Given the description of an element on the screen output the (x, y) to click on. 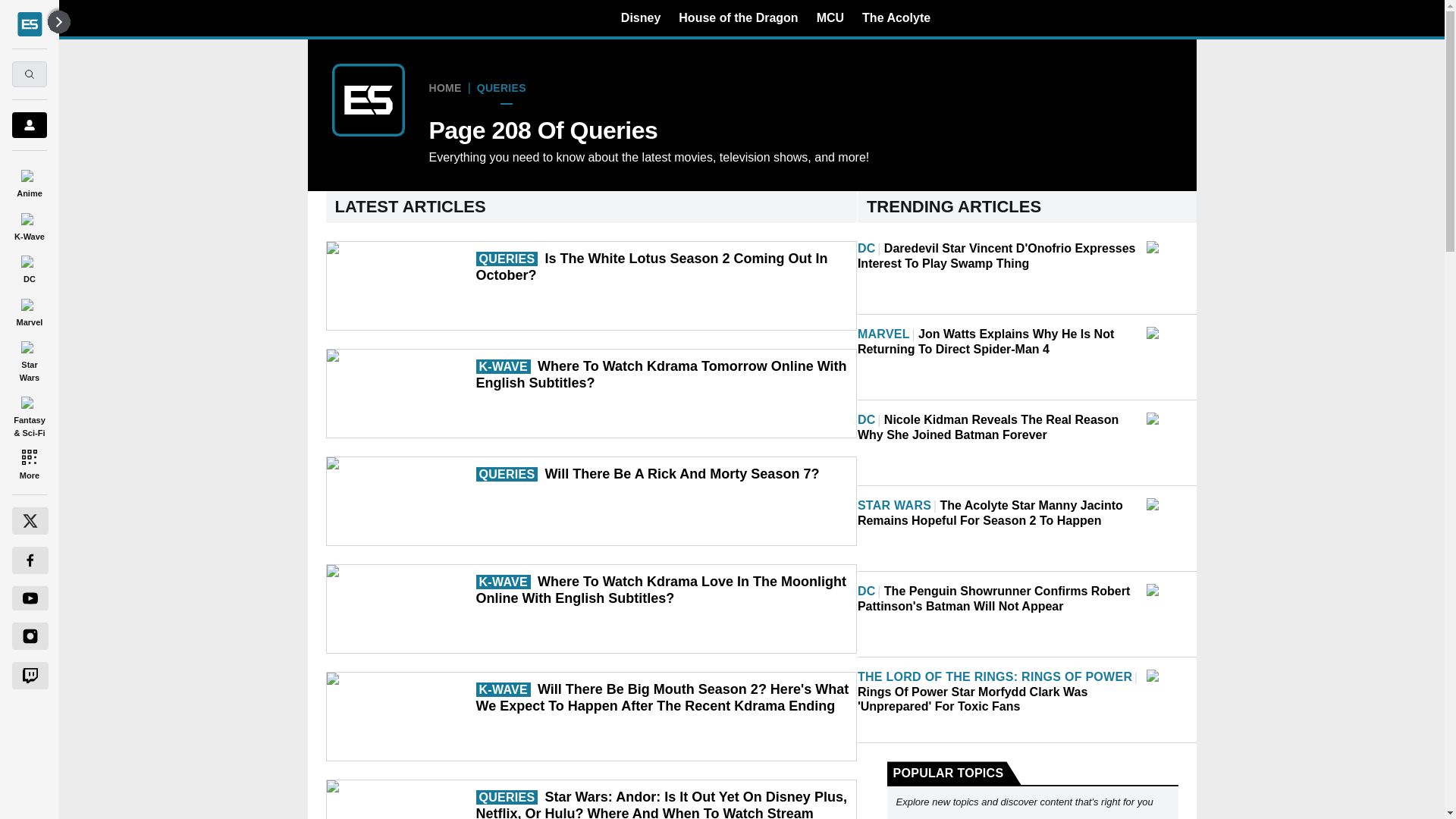
House of the Dragon (737, 18)
More (28, 463)
K-Wave (28, 224)
DC (28, 266)
Anime (28, 180)
Disney (641, 18)
MCU (830, 18)
Marvel (28, 309)
The Acolyte (895, 18)
